Given the description of an element on the screen output the (x, y) to click on. 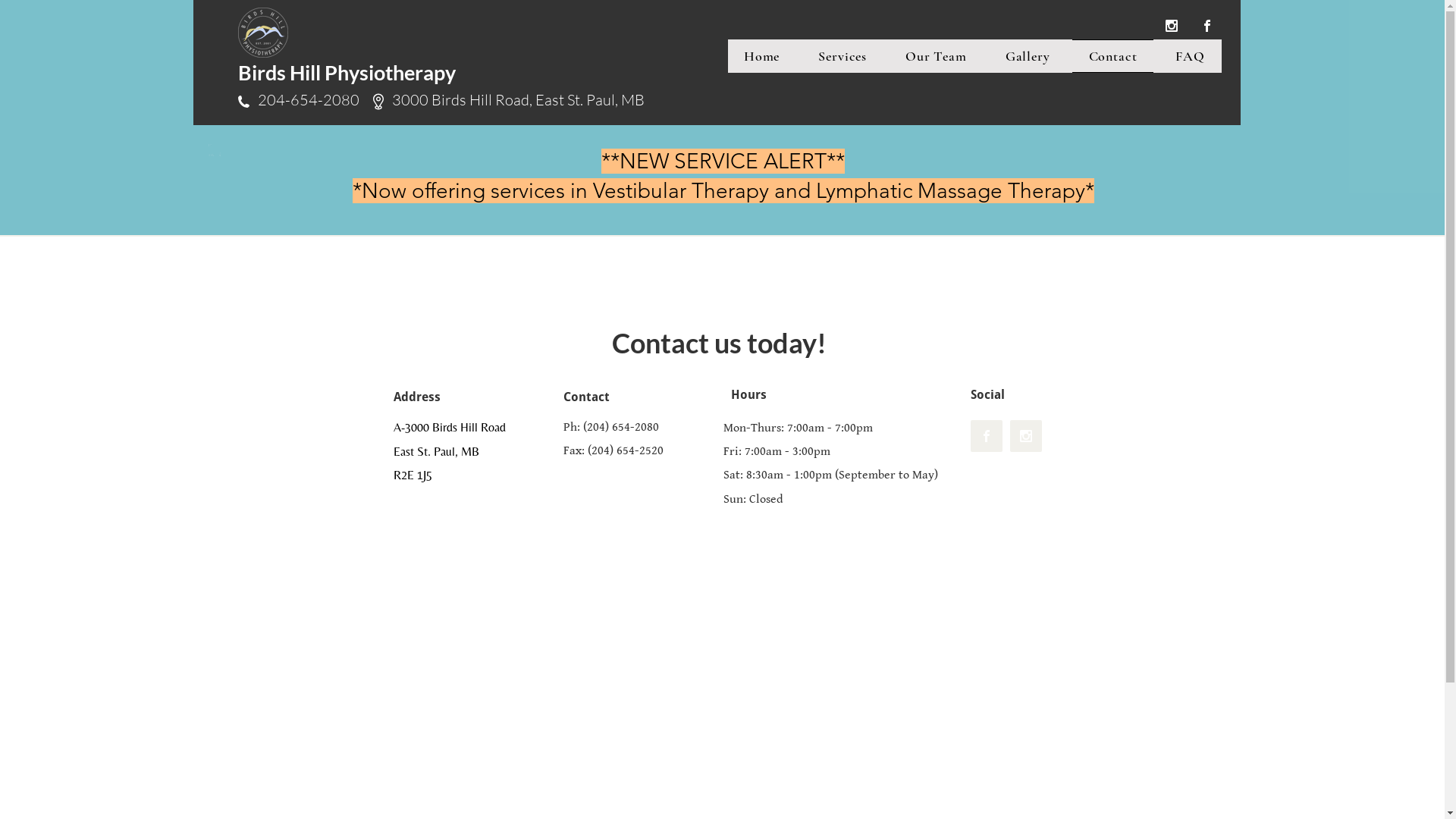
FAQ Element type: text (1189, 55)
Our Team Element type: text (936, 55)
Home Element type: text (762, 55)
Contact Element type: text (1112, 55)
Google Maps Element type: hover (721, 677)
Gallery Element type: text (1027, 55)
Services Element type: text (842, 55)
